Given the description of an element on the screen output the (x, y) to click on. 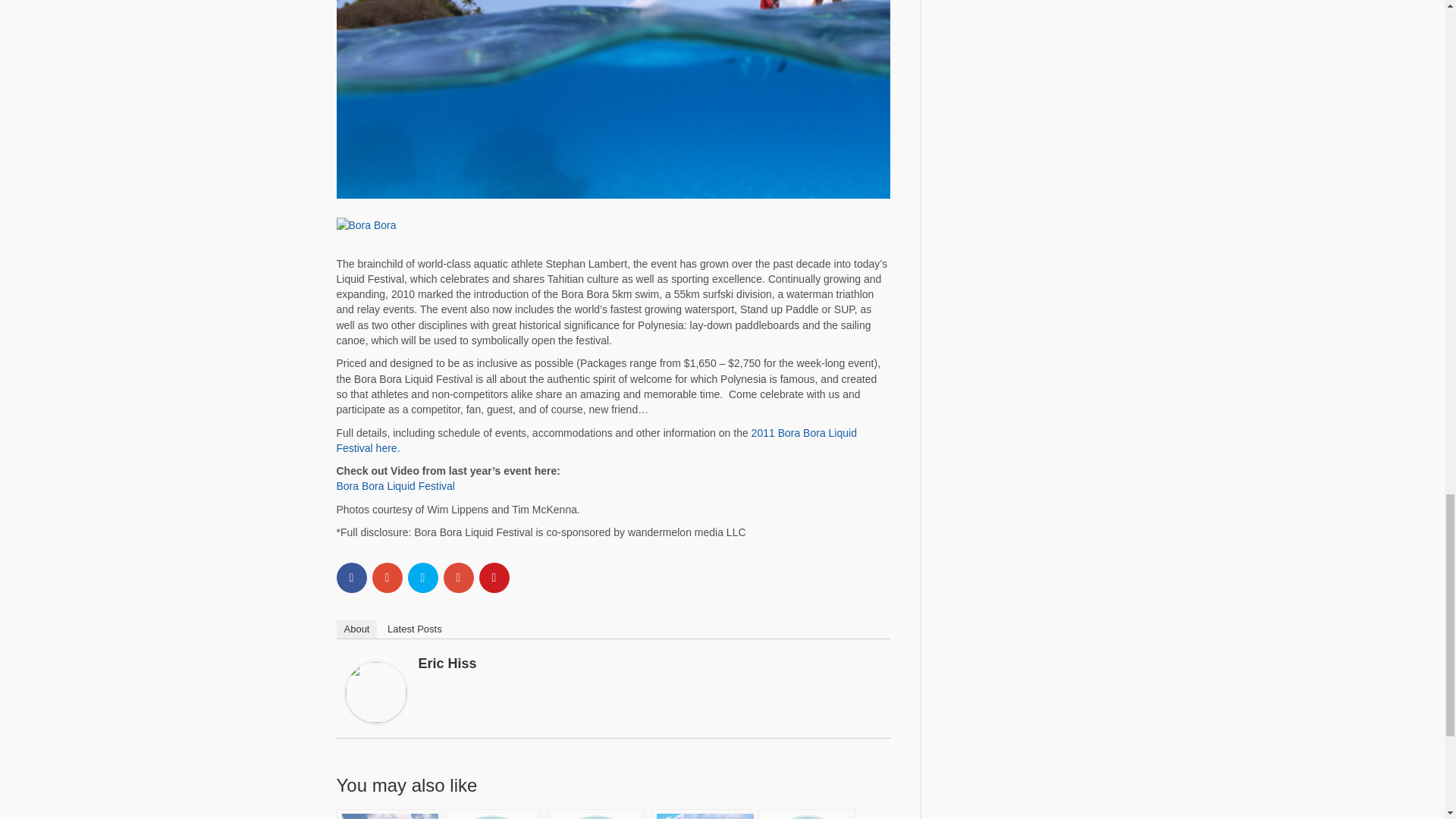
About (356, 628)
2011 Bora Bora Liquid Festival here. (596, 440)
Eric Hiss (376, 690)
SUP couple (613, 99)
Bora Bora Aerial (613, 224)
Bora Bora Liquid Festival (395, 485)
Eric Hiss (448, 663)
Latest Posts (414, 628)
